Given the description of an element on the screen output the (x, y) to click on. 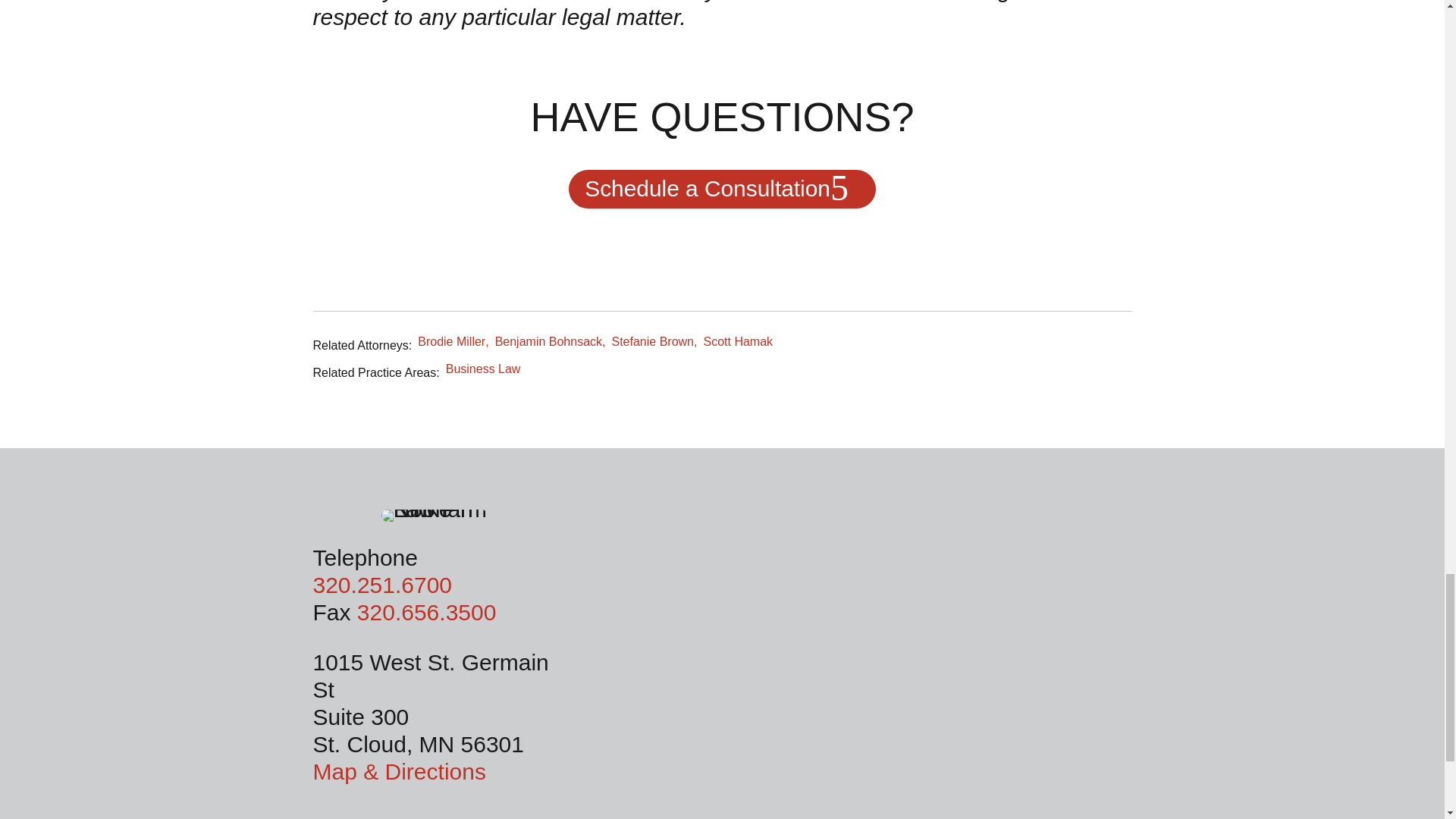
Stefanie Brown (654, 341)
Scott Hamak (738, 341)
Schedule a Consultation (722, 188)
Business Law (483, 368)
Rinke Noonan Law Firm (434, 515)
320.656.3500 (426, 611)
320.251.6700 (382, 584)
Brodie Miller (452, 341)
Benjamin Bohnsack (550, 341)
